Given the description of an element on the screen output the (x, y) to click on. 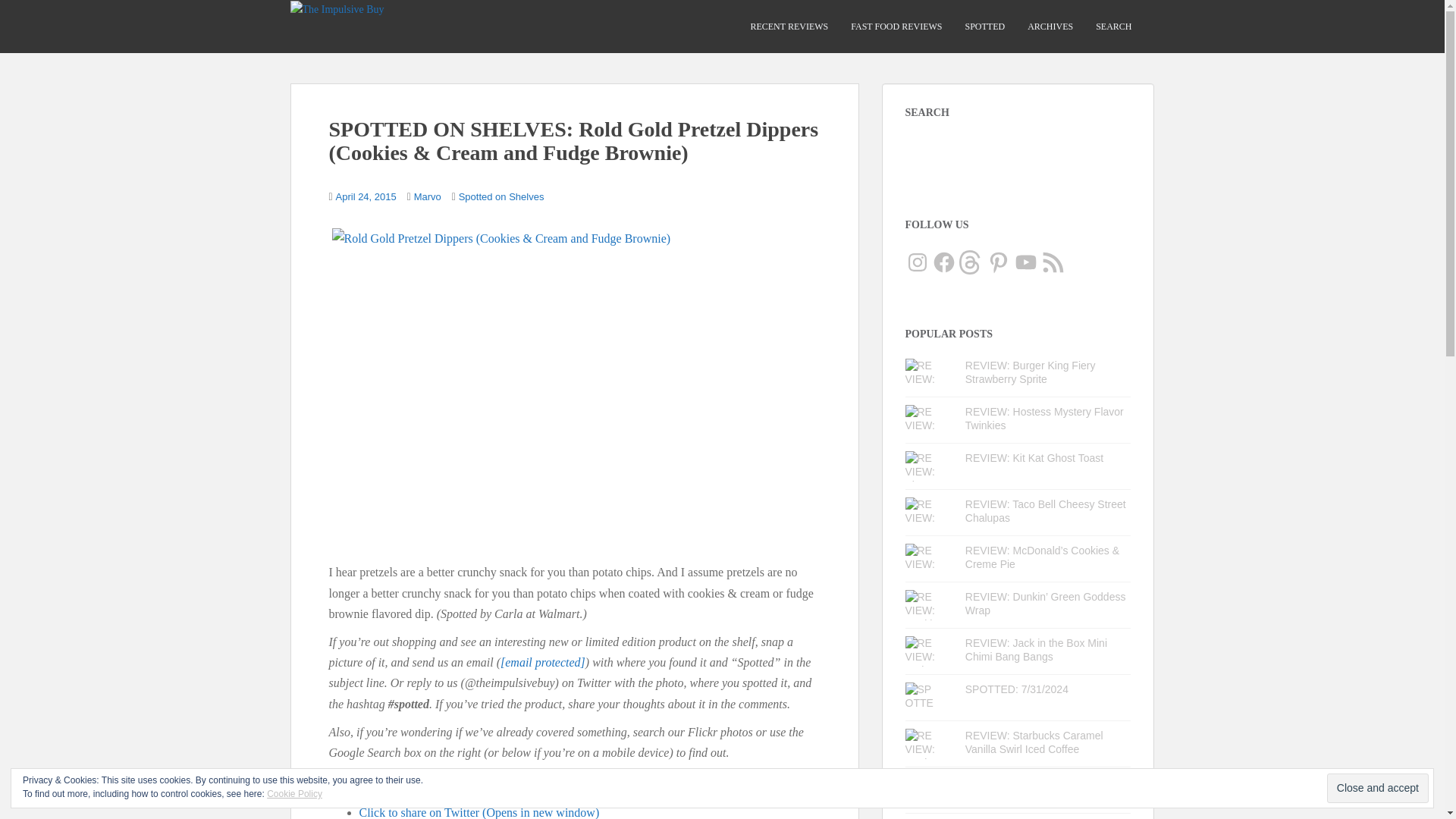
YouTube (1025, 262)
ARCHIVES (1050, 26)
Pinterest (998, 262)
FAST FOOD REVIEWS (896, 26)
SPOTTED (983, 26)
Spotted on Shelves (501, 196)
Click to share on Twitter (479, 812)
Instagram (917, 262)
REVIEW: Hostess Mystery Flavor Twinkies (1044, 418)
April 24, 2015 (366, 196)
Close and accept (1377, 788)
REVIEW: Kit Kat Ghost Toast (1034, 458)
RECENT REVIEWS (788, 26)
Facebook (943, 262)
REVIEW: Burger King Fiery Strawberry Sprite (1030, 371)
